Given the description of an element on the screen output the (x, y) to click on. 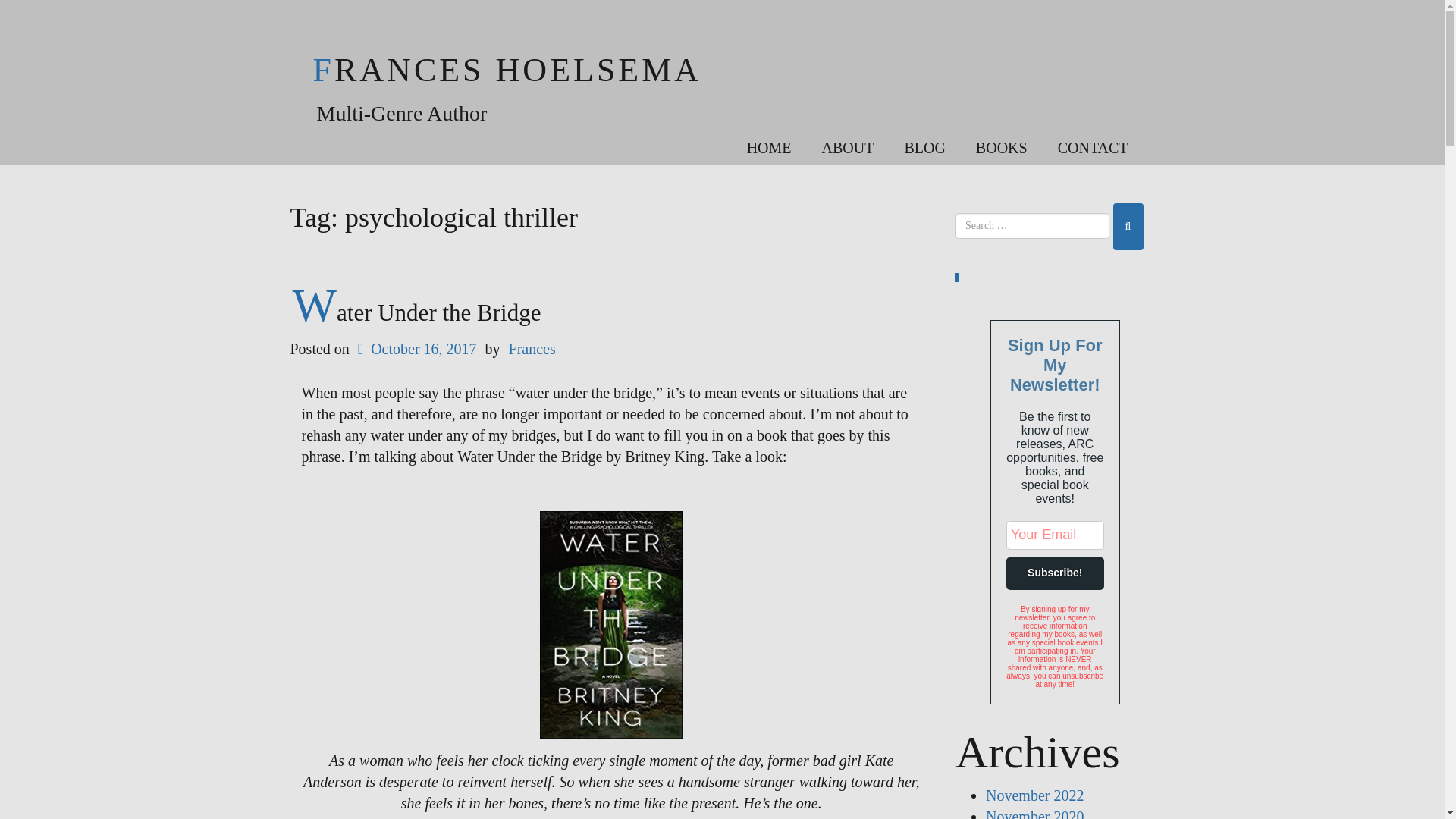
Water Under the Bridge (416, 312)
Subscribe! (1054, 572)
FRANCES HOELSEMA (507, 69)
BOOKS (1001, 148)
Frances (532, 348)
October 16, 2017 (415, 348)
ABOUT (847, 148)
CONTACT (1092, 148)
HOME (769, 148)
BLOG (923, 148)
